Given the description of an element on the screen output the (x, y) to click on. 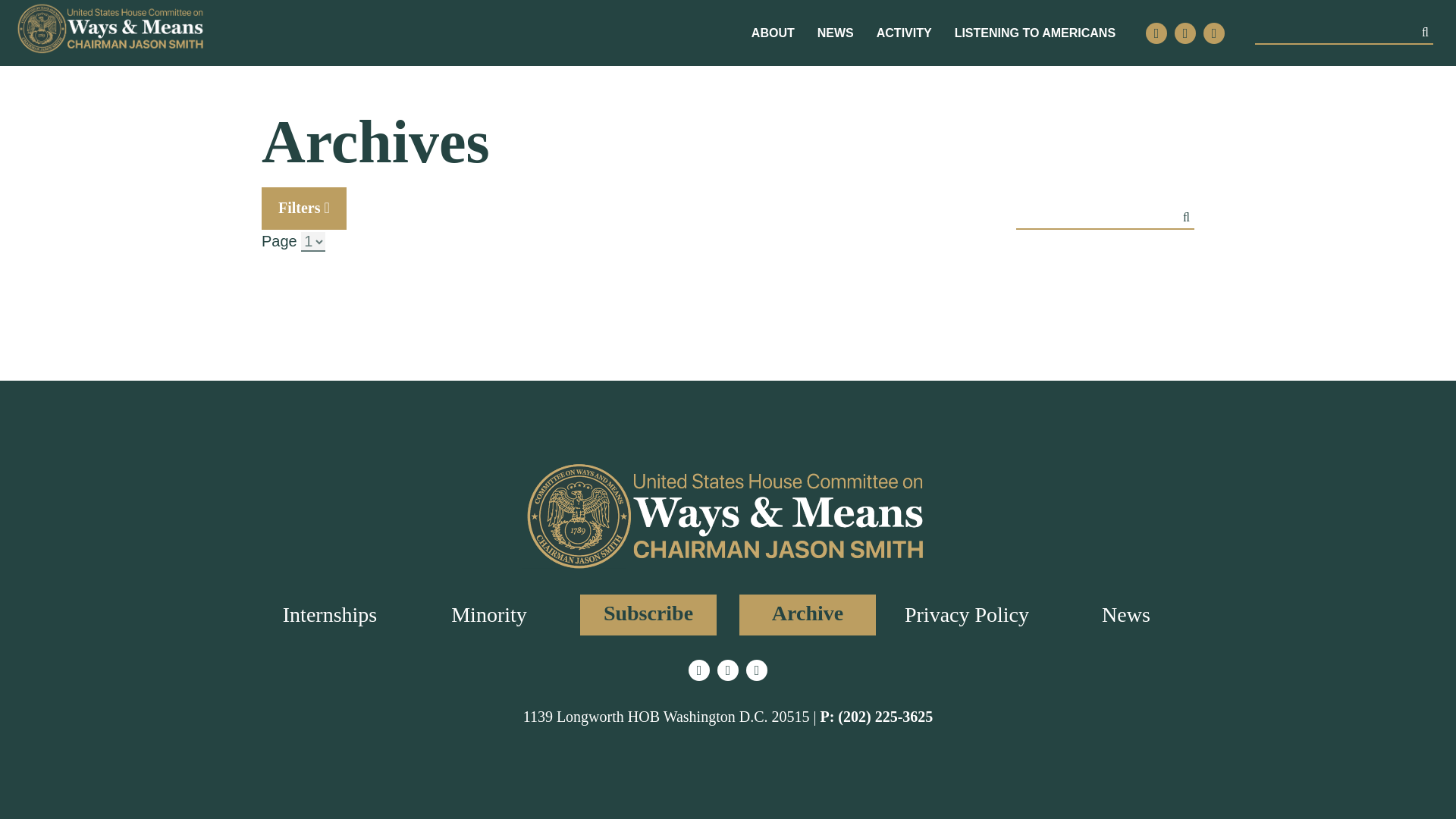
Archive (807, 614)
Twitter (699, 670)
NEWS (834, 33)
Youtube (756, 670)
Subscribe (647, 614)
ACTIVITY (903, 33)
Privacy Policy (966, 614)
ABOUT (772, 33)
Instagram (727, 670)
Filters (304, 208)
Internships (329, 614)
Minority (489, 614)
Instagram (1184, 33)
LISTENING TO AMERICANS (1035, 33)
Youtube (1214, 33)
